Given the description of an element on the screen output the (x, y) to click on. 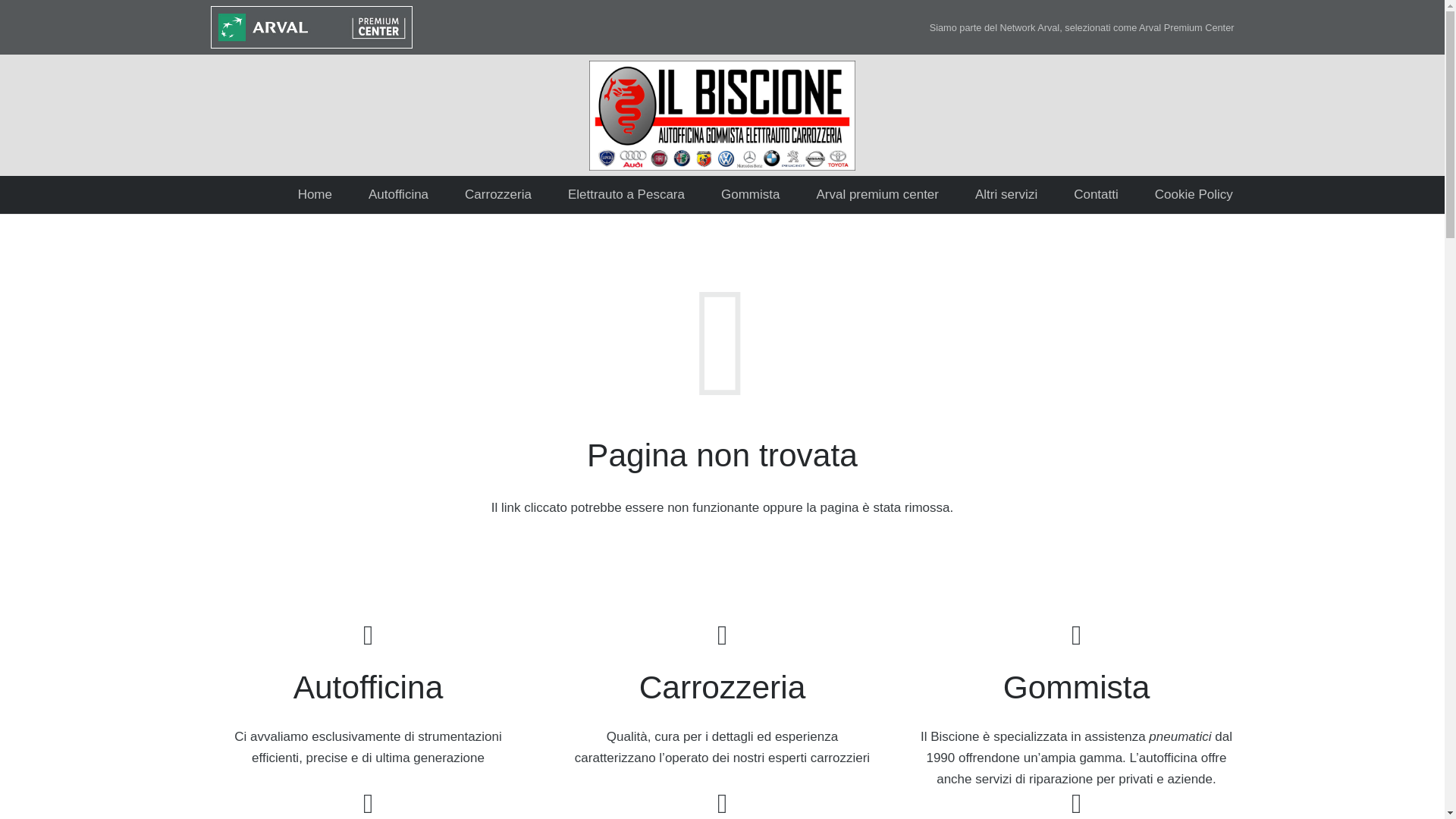
Arval premium center (876, 194)
Contatti (1096, 194)
Arval Premium Center (1185, 27)
Gommista (750, 194)
Altri servizi (1005, 194)
Home (314, 194)
Elettrauto a Pescara (626, 194)
Carrozzeria (498, 194)
Cookie Policy (1193, 194)
Autofficina (398, 194)
Arval Premium Center (1185, 27)
